Given the description of an element on the screen output the (x, y) to click on. 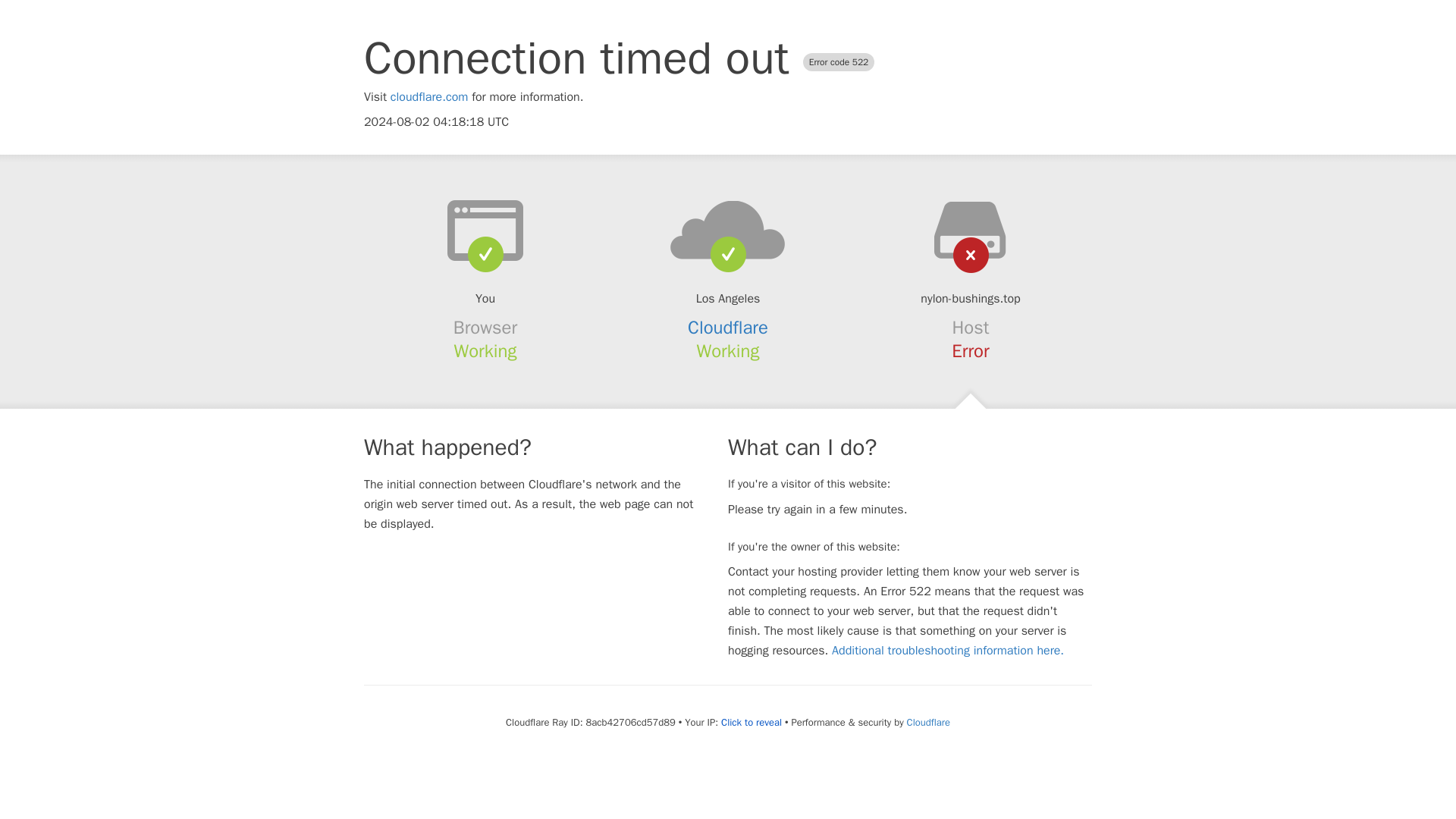
cloudflare.com (429, 96)
Cloudflare (727, 327)
Cloudflare (928, 721)
Additional troubleshooting information here. (947, 650)
Click to reveal (750, 722)
